Given the description of an element on the screen output the (x, y) to click on. 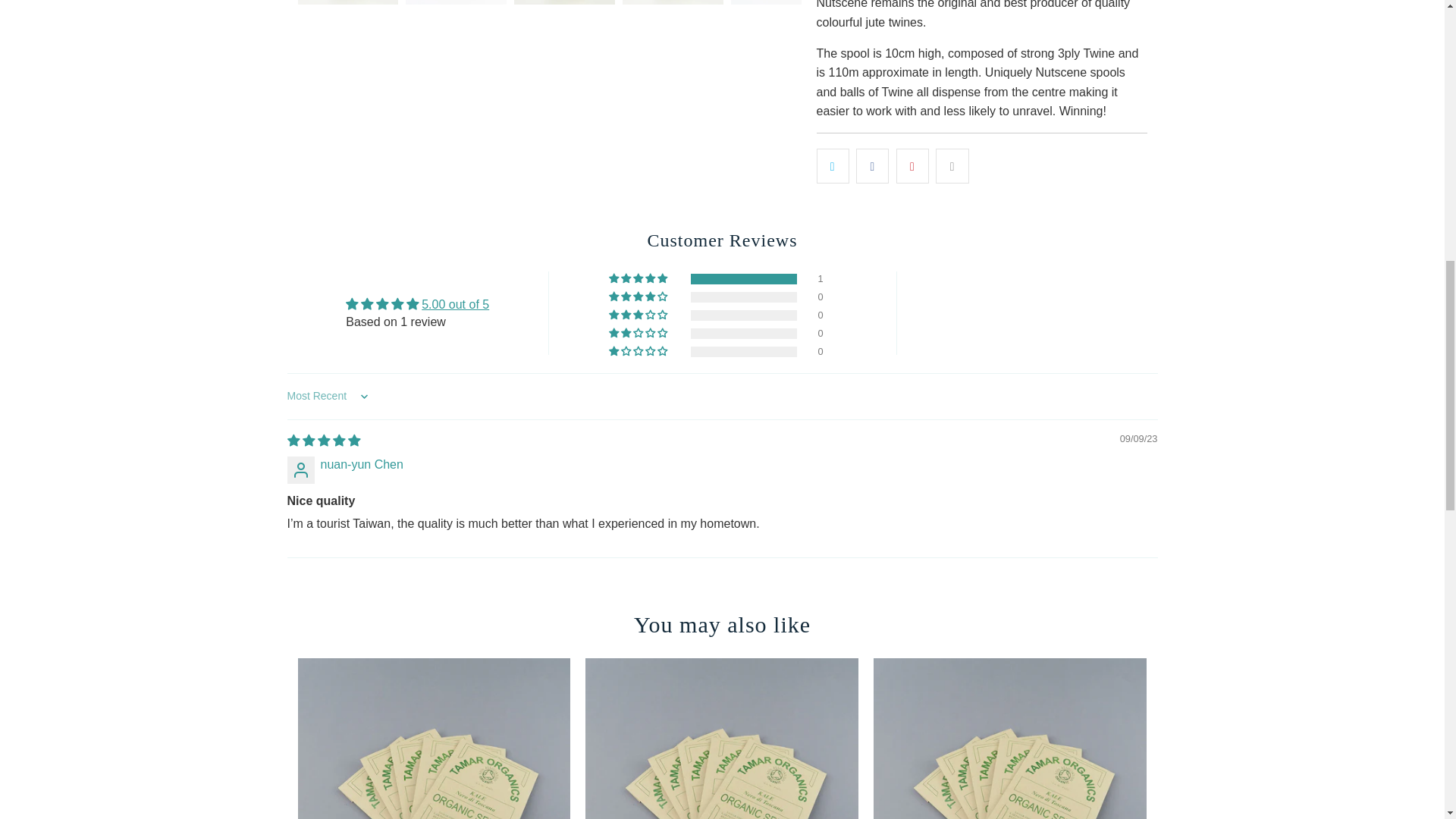
Share this on Pinterest (912, 165)
Share this on Facebook (872, 165)
Share this on Twitter (831, 165)
Email this to a friend (952, 165)
